Given the description of an element on the screen output the (x, y) to click on. 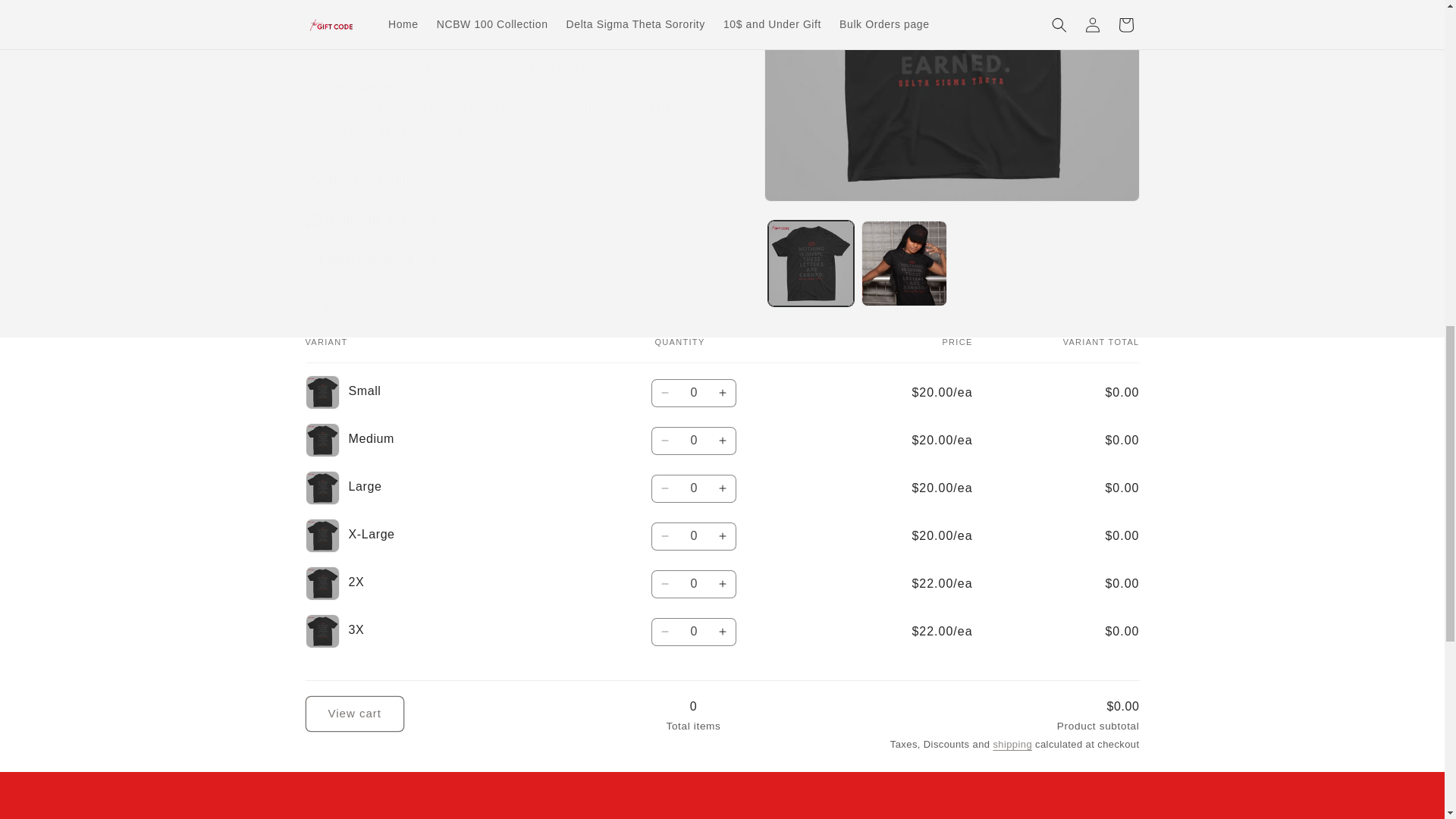
0 (693, 632)
0 (693, 440)
0 (693, 393)
0 (693, 488)
Decrease quantity for Medium (665, 440)
Increase quantity for Small (723, 393)
0 (693, 584)
0 (693, 536)
Decrease quantity for Small (665, 393)
